Given the description of an element on the screen output the (x, y) to click on. 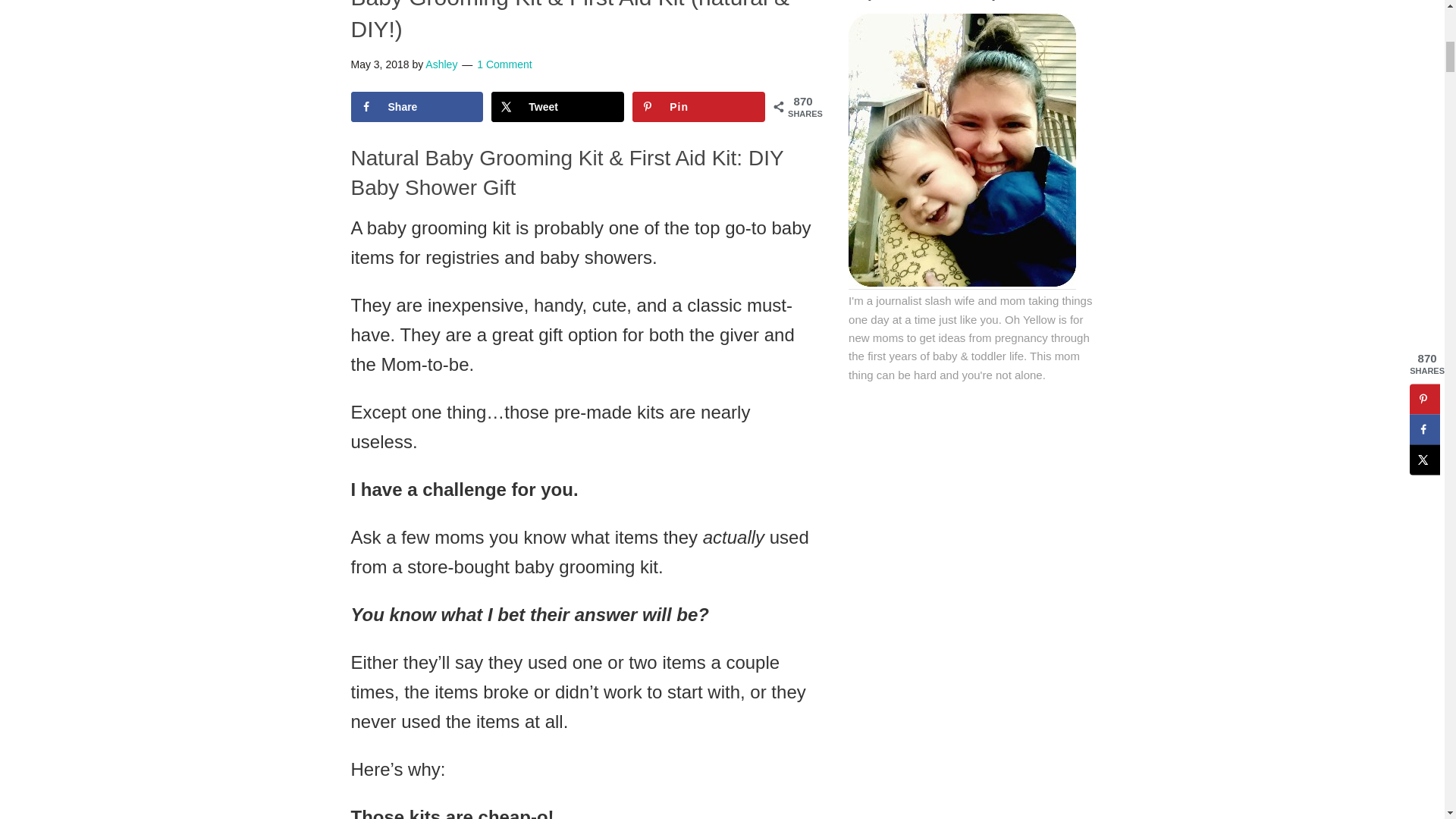
Tweet (558, 106)
Share (416, 106)
Posts by Ashley (441, 64)
Share on Facebook (416, 106)
Save to Pinterest (698, 106)
Pin (698, 106)
Share on X (558, 106)
Thursday, May 3, 2018, 3:08 pm (379, 64)
1 Comment (504, 64)
Ashley (441, 64)
